Given the description of an element on the screen output the (x, y) to click on. 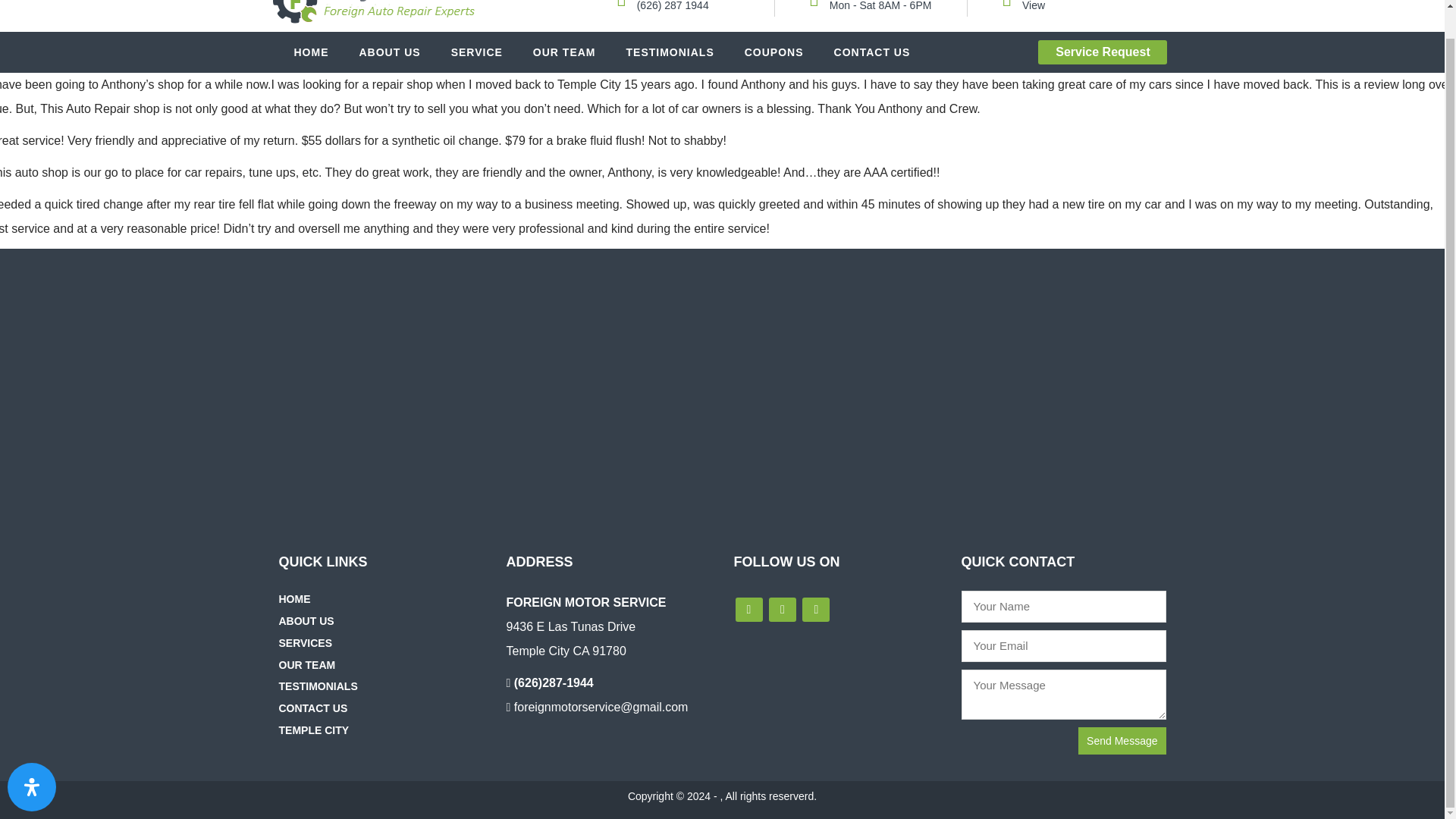
SERVICES (309, 643)
ABOUT US (389, 52)
COUPONS (773, 52)
CONTACT US (317, 707)
View (1033, 5)
ABOUT US (310, 621)
OUR TEAM (564, 52)
Send Message (1122, 740)
Carshire (372, 15)
HOME (298, 598)
HOME (311, 52)
TESTIMONIALS (670, 52)
OUR TEAM (311, 664)
Service Request (1102, 52)
TEMPLE CITY (317, 729)
